Given the description of an element on the screen output the (x, y) to click on. 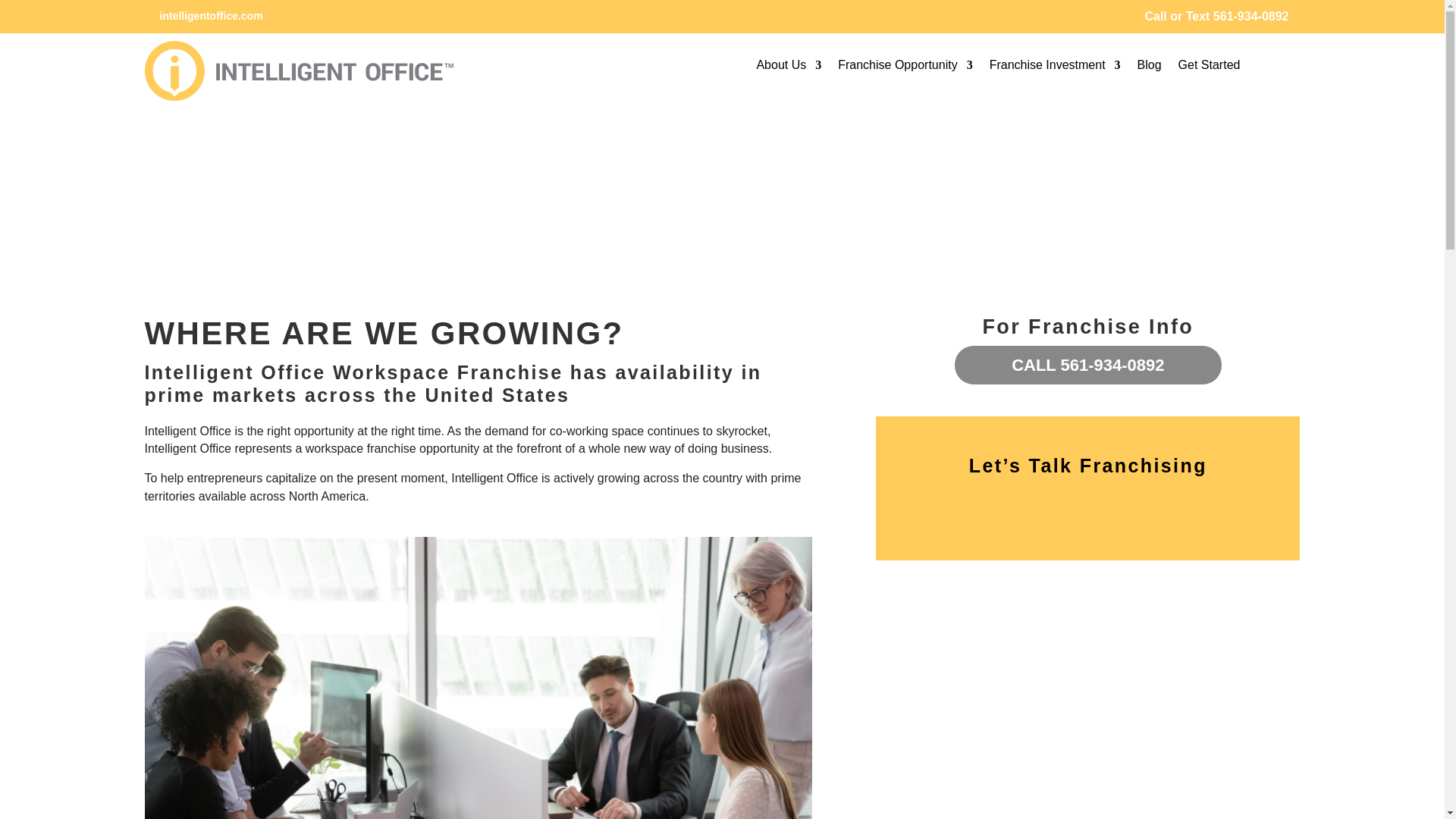
Franchise Investment (1055, 68)
About Us (788, 68)
CALL 561-934-0892 (1088, 364)
Get Started (1208, 68)
Franchise Opportunity (905, 68)
Blog (1149, 68)
561-934-0892 (1250, 15)
intelligent-office-logo-horizontal-inverted-rgb (298, 70)
intelligentoffice.com (210, 15)
